Given the description of an element on the screen output the (x, y) to click on. 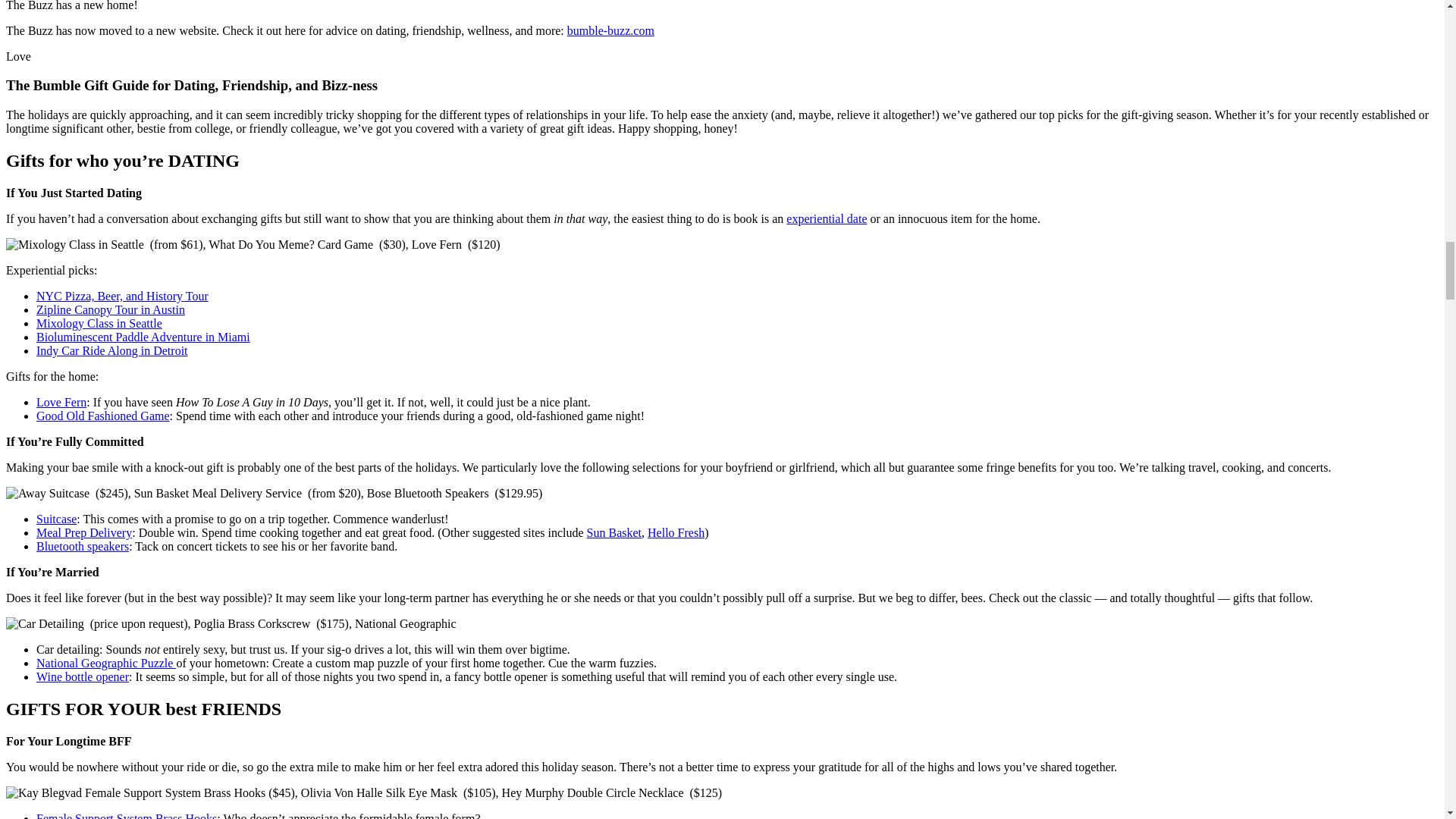
Love Fern (60, 401)
Sun Basket (614, 532)
Wine bottle opener (82, 676)
National Geographic Puzzle (106, 662)
Zipline Canopy Tour in Austin (110, 309)
Indy Car Ride Along in Detroit (111, 350)
experiential date (826, 218)
Good Old Fashioned Game (103, 415)
Hello Fresh (675, 532)
Suitcase (56, 518)
Female Support System Brass Hooks (126, 815)
Bioluminescent Paddle Adventure in Miami (143, 336)
bumble-buzz.com (610, 30)
Bluetooth speakers (82, 545)
Meal Prep Delivery (84, 532)
